Given the description of an element on the screen output the (x, y) to click on. 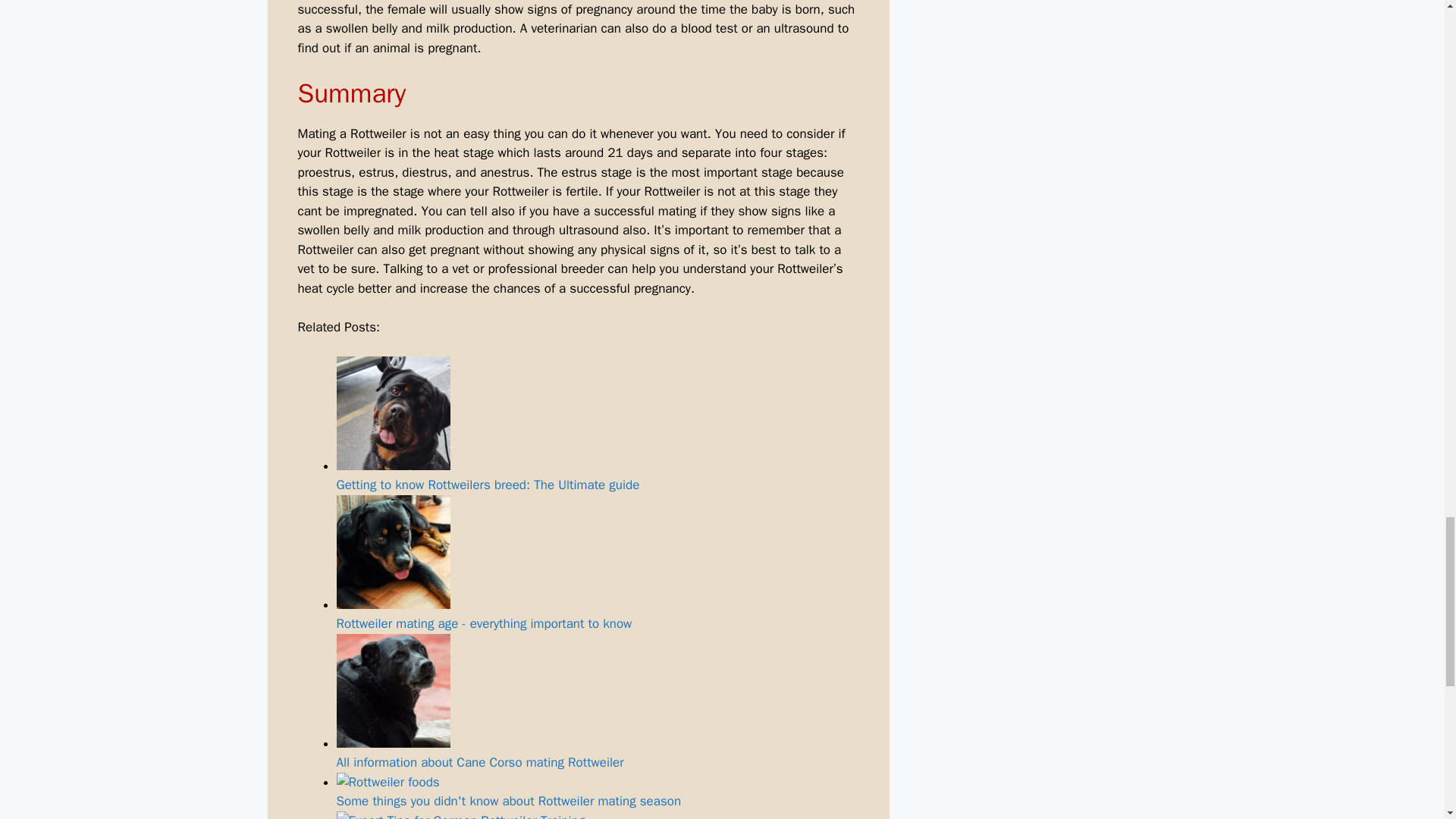
Rottweiler mating age - everything important to know (597, 563)
Getting to know Rottweilers breed: The Ultimate guide (392, 413)
All information about Cane Corso mating Rottweiler (597, 702)
Rottweiler mating age - everything important to know (392, 552)
Getting to know Rottweilers breed: The Ultimate guide (597, 424)
Some things you didn't know about Rottweiler mating season (387, 782)
All information about Cane Corso mating Rottweiler (392, 690)
Some things you didn't know about Rottweiler mating season (597, 791)
